Given the description of an element on the screen output the (x, y) to click on. 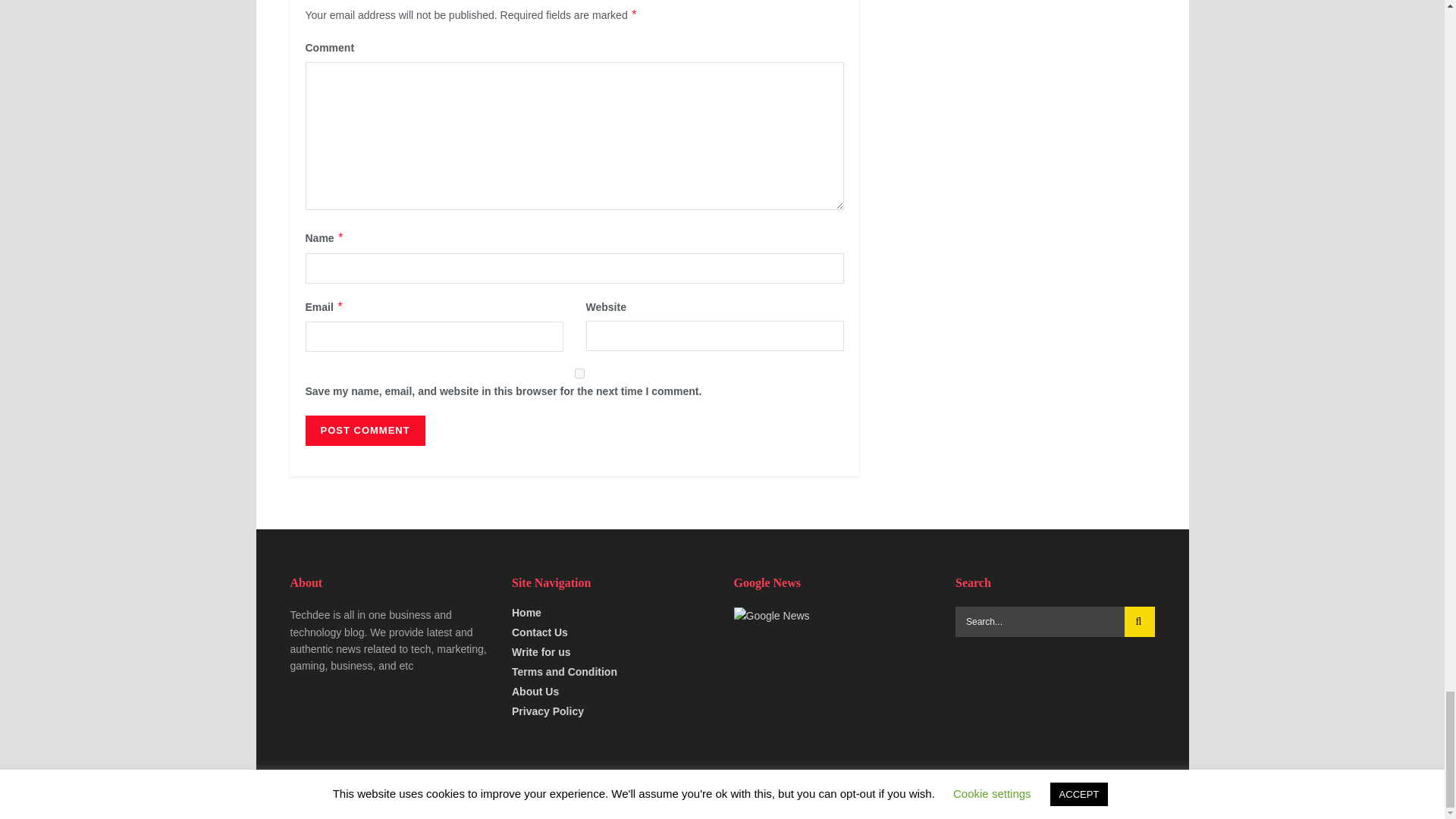
yes (580, 373)
Techdee (338, 793)
Post Comment (364, 430)
